Given the description of an element on the screen output the (x, y) to click on. 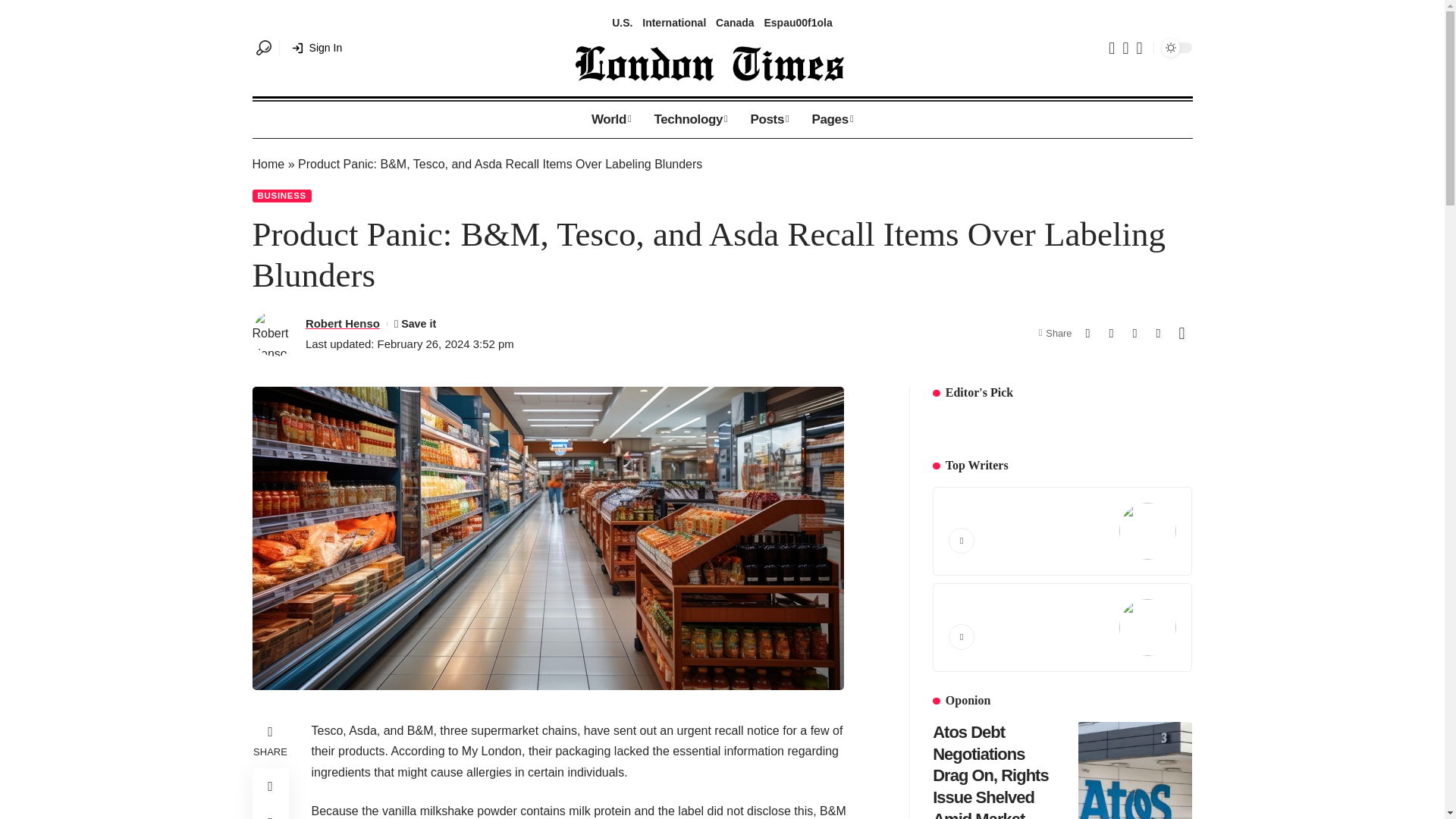
Espau00f1ola (796, 23)
Technology (721, 23)
Sign In (690, 119)
Posts (317, 47)
International (768, 119)
Canada (674, 23)
Pages (735, 23)
U.S. (831, 119)
World (621, 23)
